Given the description of an element on the screen output the (x, y) to click on. 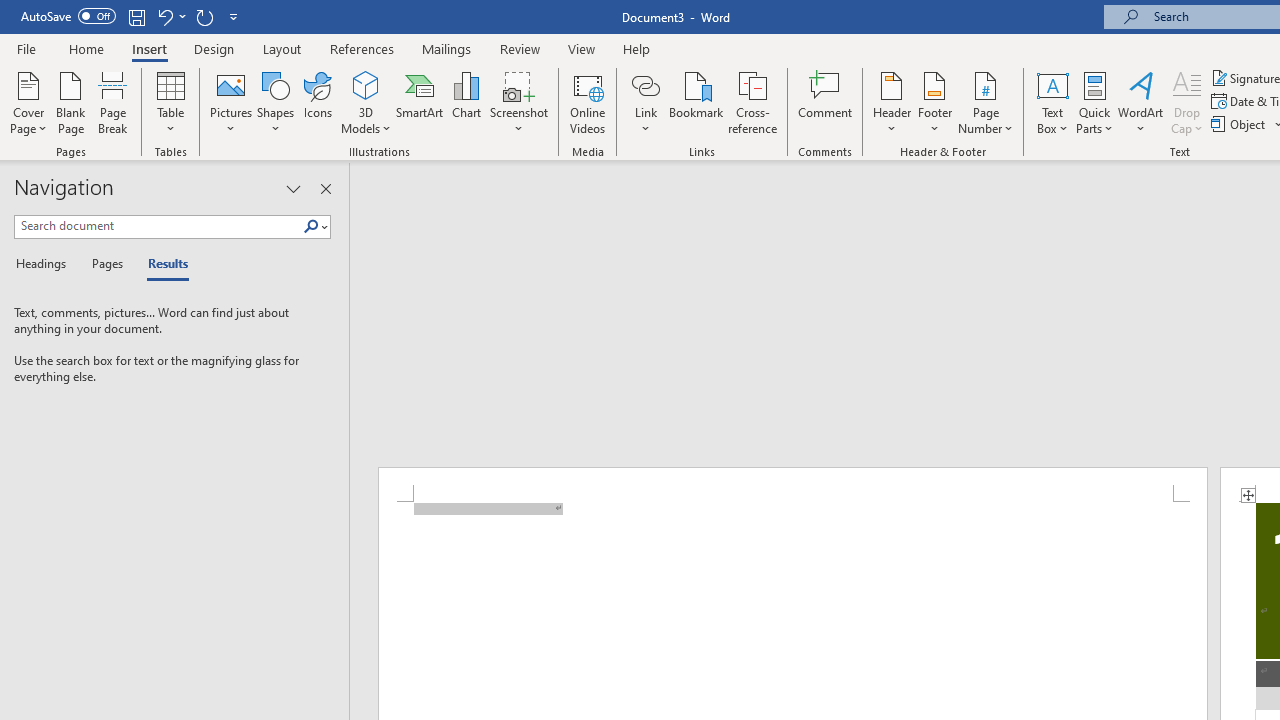
Class: NetUIImage (311, 226)
Save (136, 15)
AutoSave (68, 16)
Home (86, 48)
Drop Cap (1187, 102)
Chart... (466, 102)
Results (161, 264)
Header -Section 1- (792, 485)
Quick Parts (1094, 102)
WordArt (1141, 102)
3D Models (366, 102)
SmartArt... (419, 102)
More Options (645, 121)
Pages (105, 264)
